Given the description of an element on the screen output the (x, y) to click on. 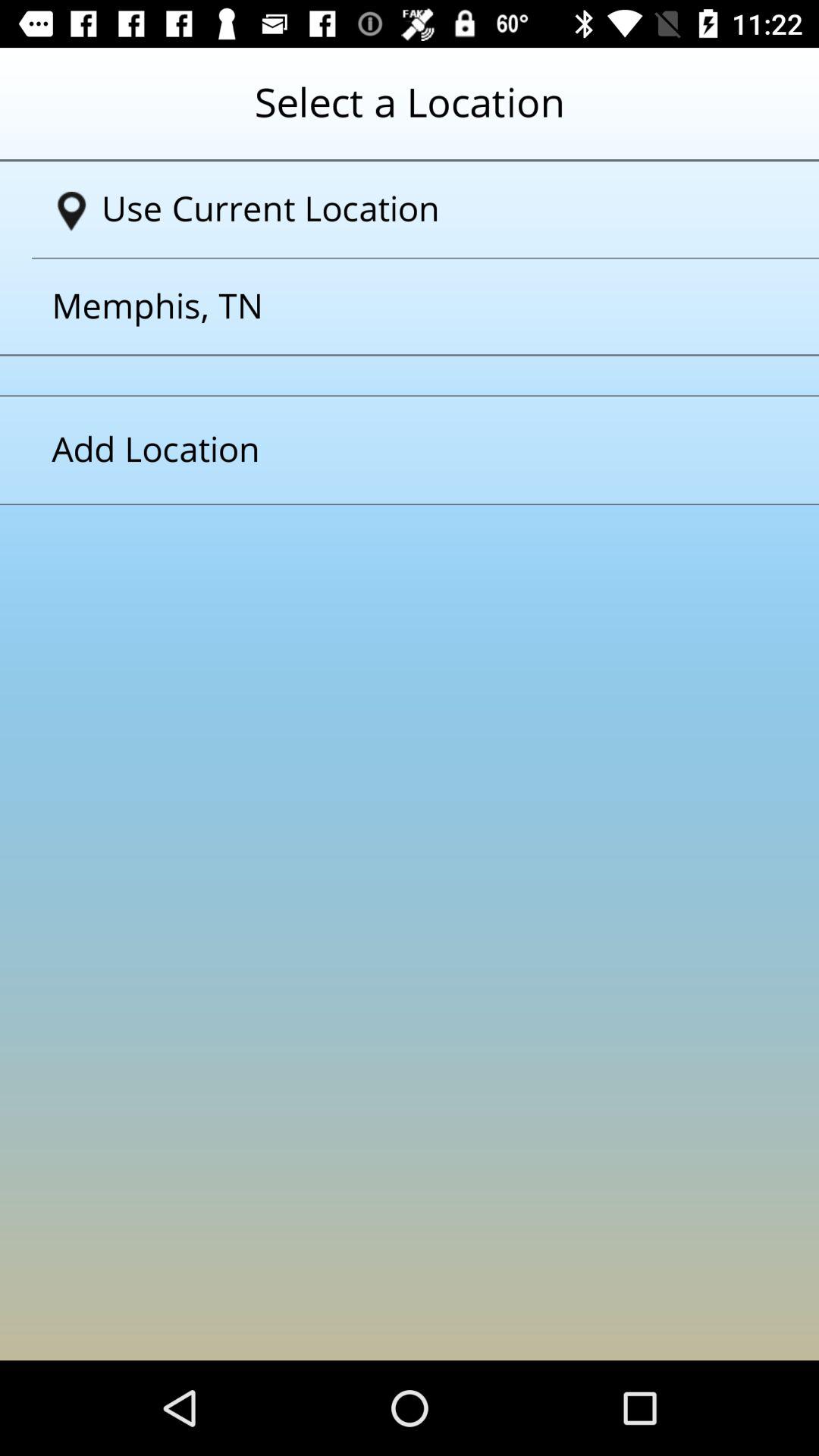
select the text which is to the immediate right of navigation symbol (415, 209)
click on the select a location (409, 114)
go to the text above add location (390, 307)
